Given the description of an element on the screen output the (x, y) to click on. 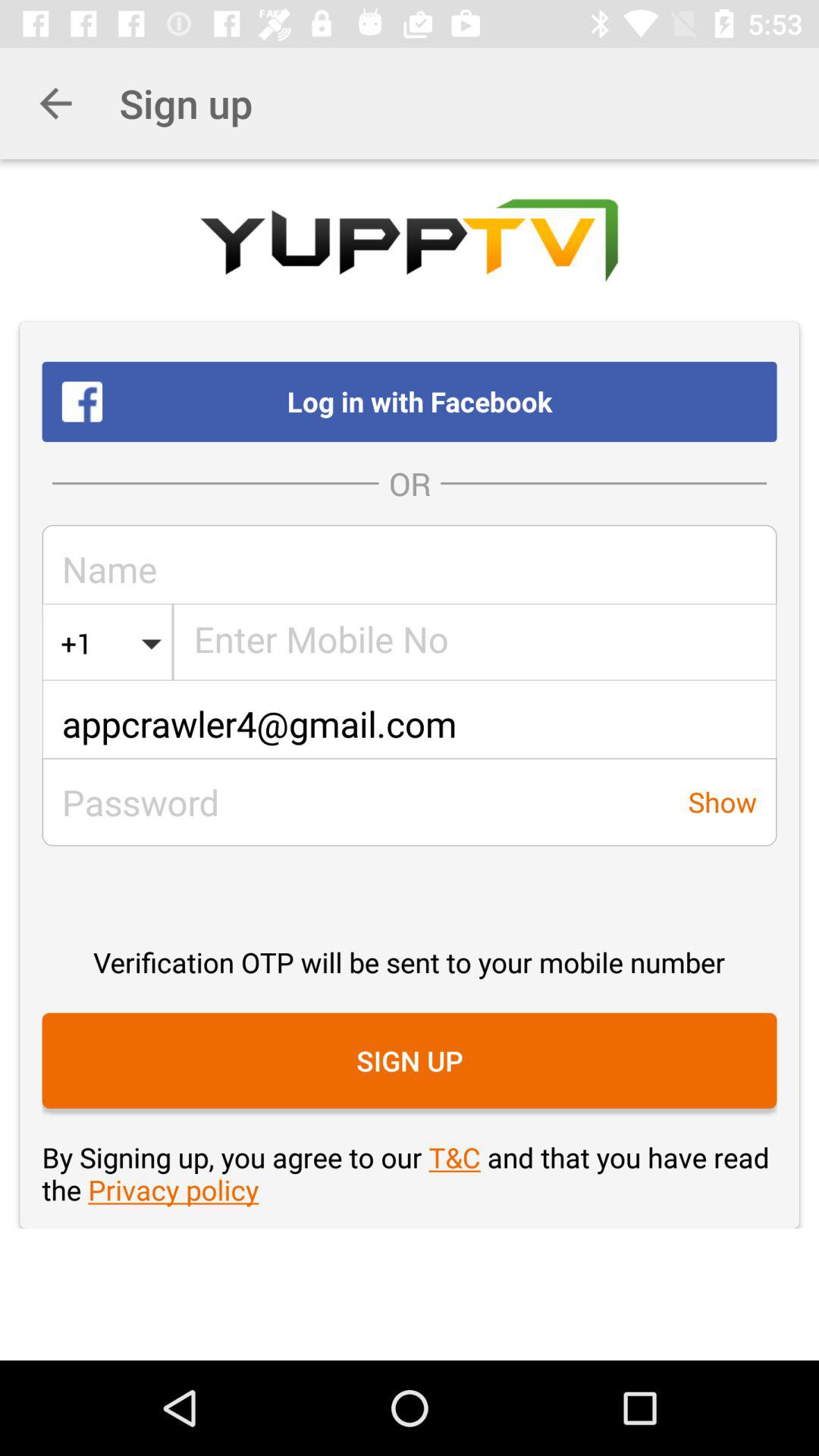
enter phone number (475, 643)
